Given the description of an element on the screen output the (x, y) to click on. 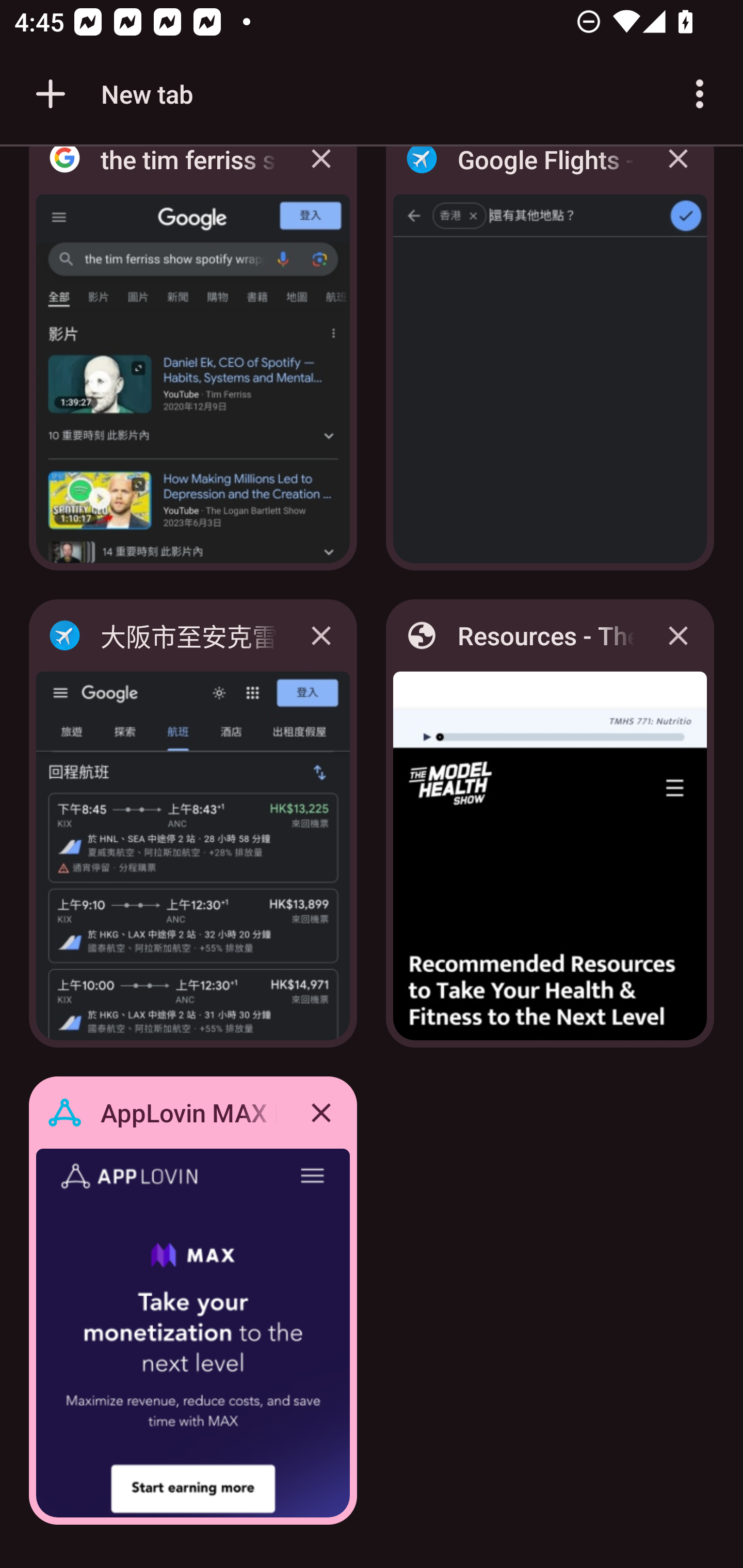
New tab (111, 93)
Customize and control Google Chrome (699, 93)
Close Google Flights - 尋找廉價航班選項及追蹤價格 tab (677, 173)
Close 大阪市至安克雷奇 | Google Flights tab (320, 635)
Close Resources - The Model Health Show tab (677, 635)
